Given the description of an element on the screen output the (x, y) to click on. 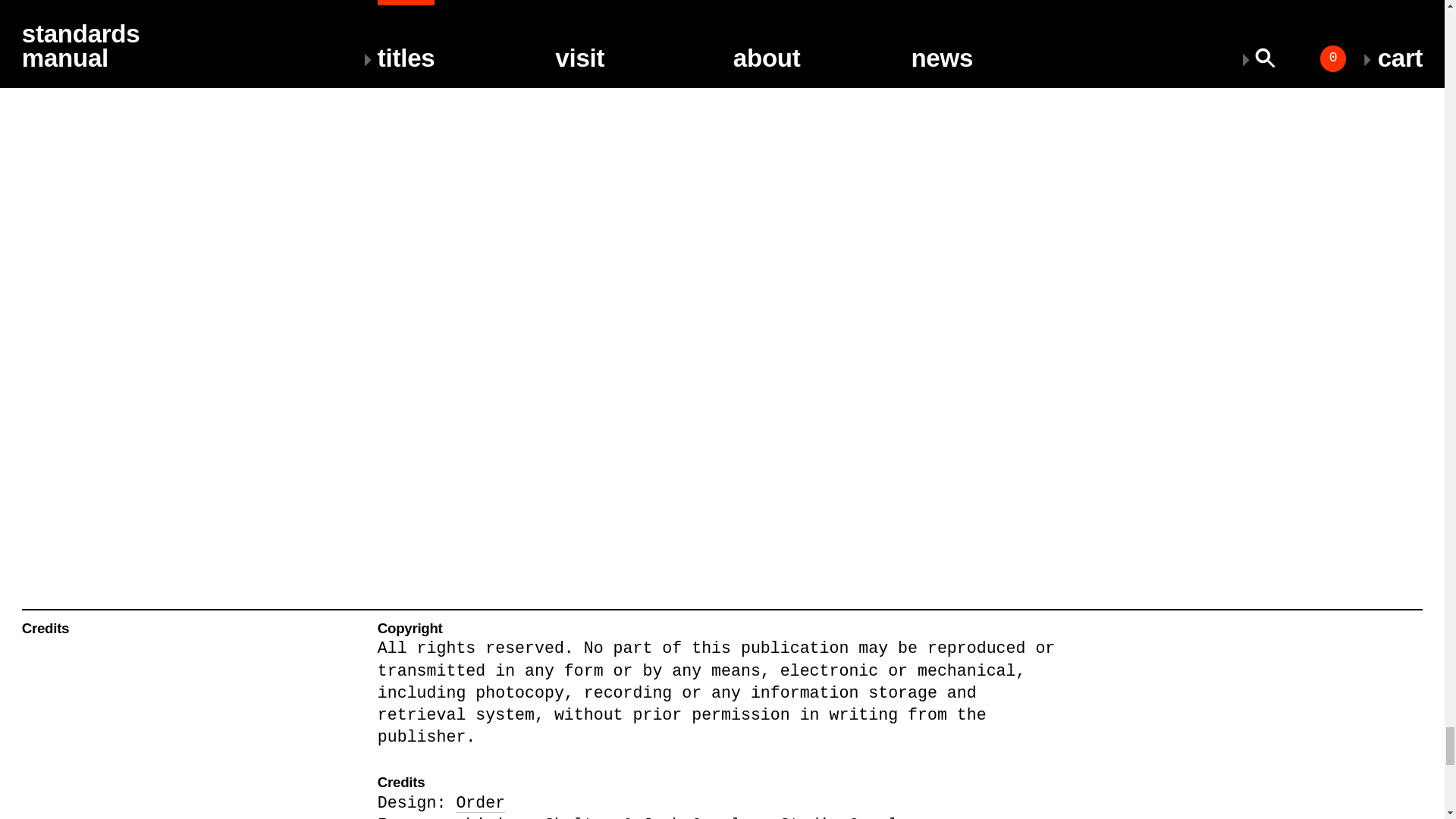
Order (480, 803)
Studio Carnley (848, 817)
